Given the description of an element on the screen output the (x, y) to click on. 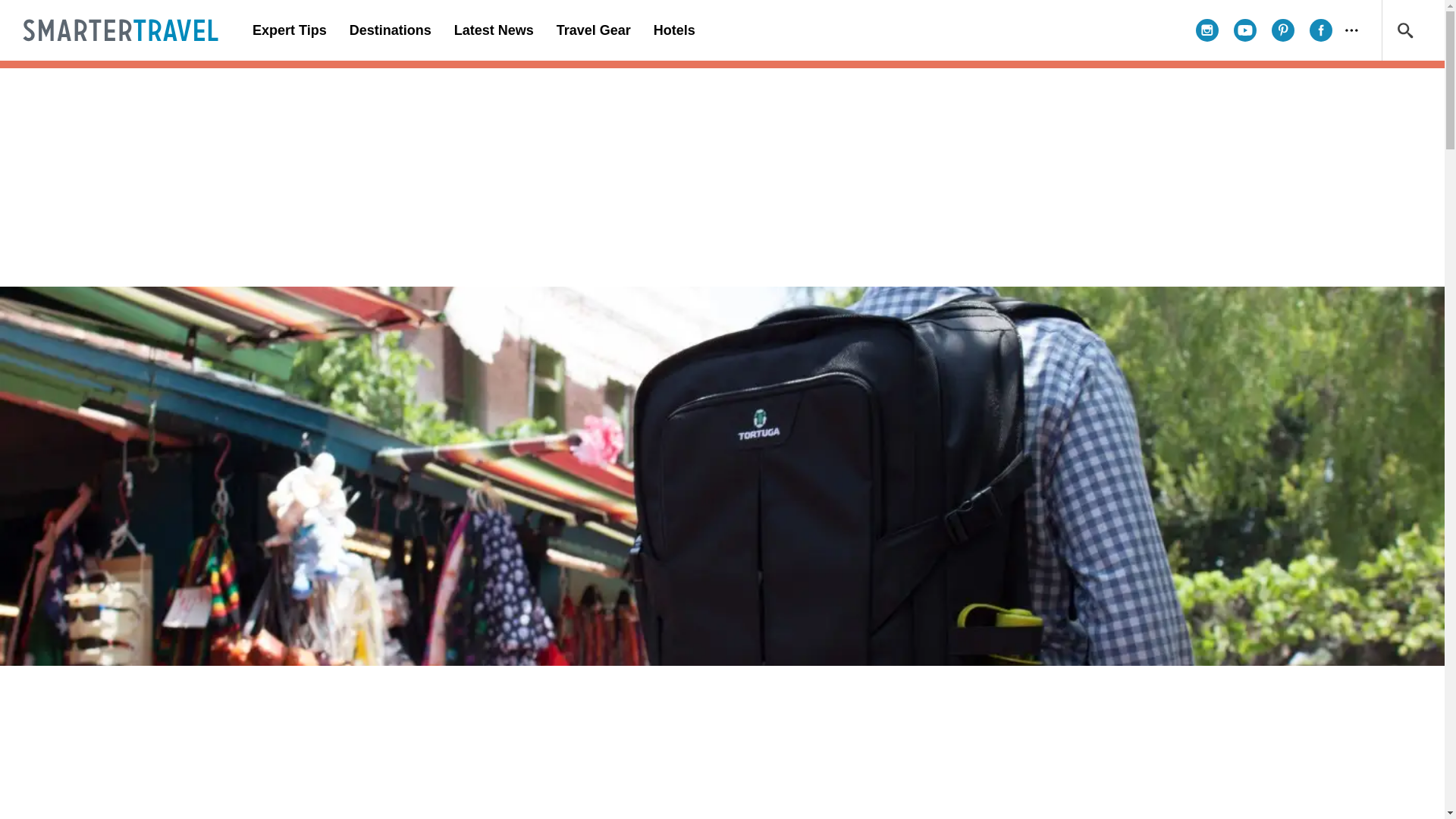
Hotels (674, 30)
Latest News (493, 30)
Travel Gear (593, 30)
Destinations (389, 30)
Expert Tips (289, 30)
